Given the description of an element on the screen output the (x, y) to click on. 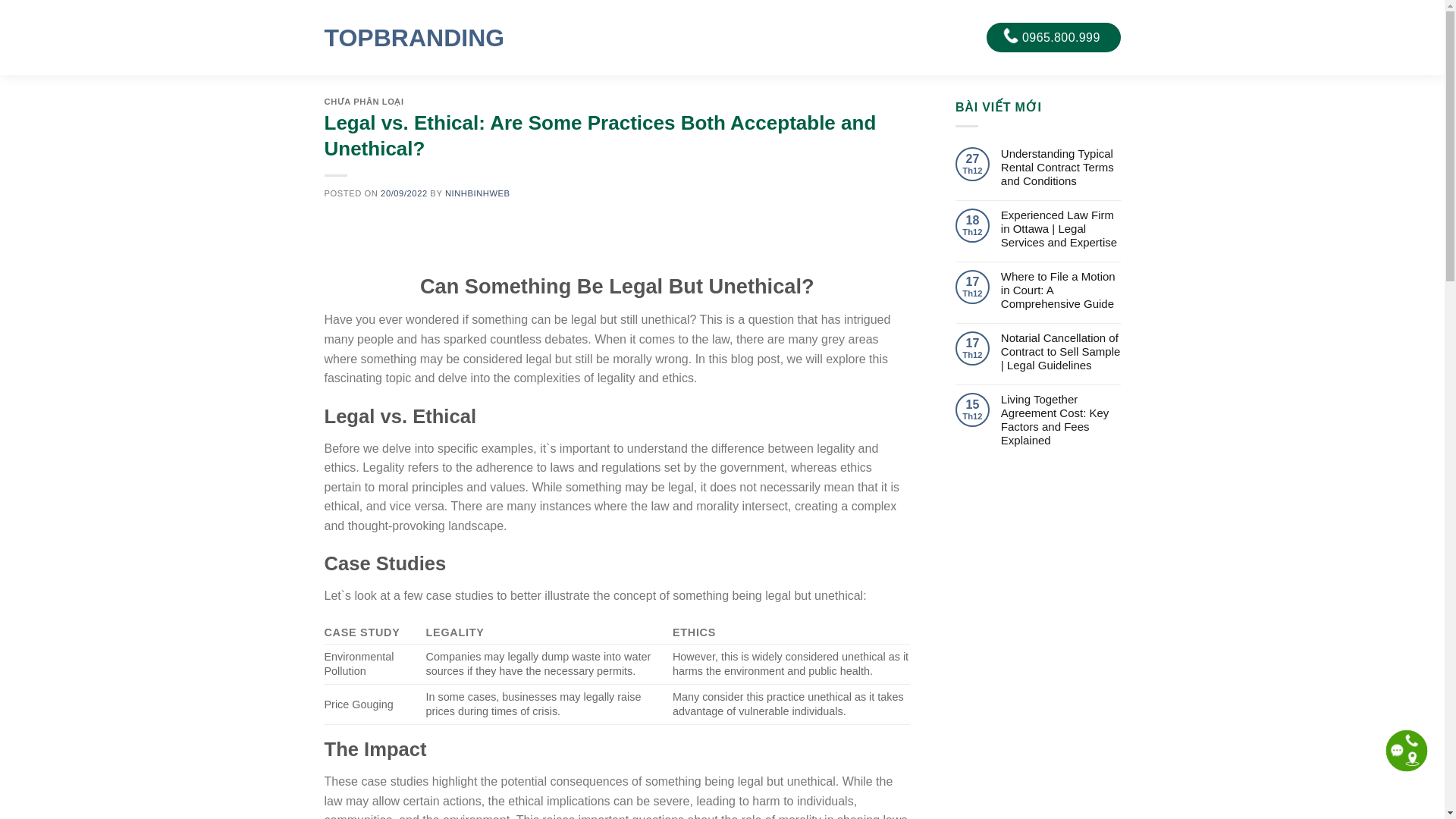
Where to File a Motion in Court: A Comprehensive Guide (1061, 290)
NINHBINHWEB (478, 193)
0965.800.999 (1053, 37)
Understanding Typical Rental Contract Terms and Conditions (1061, 167)
TOPBRANDING (409, 37)
Understanding Typical Rental Contract Terms and Conditions (1061, 167)
Where to File a Motion in Court: A Comprehensive Guide (1061, 290)
